Given the description of an element on the screen output the (x, y) to click on. 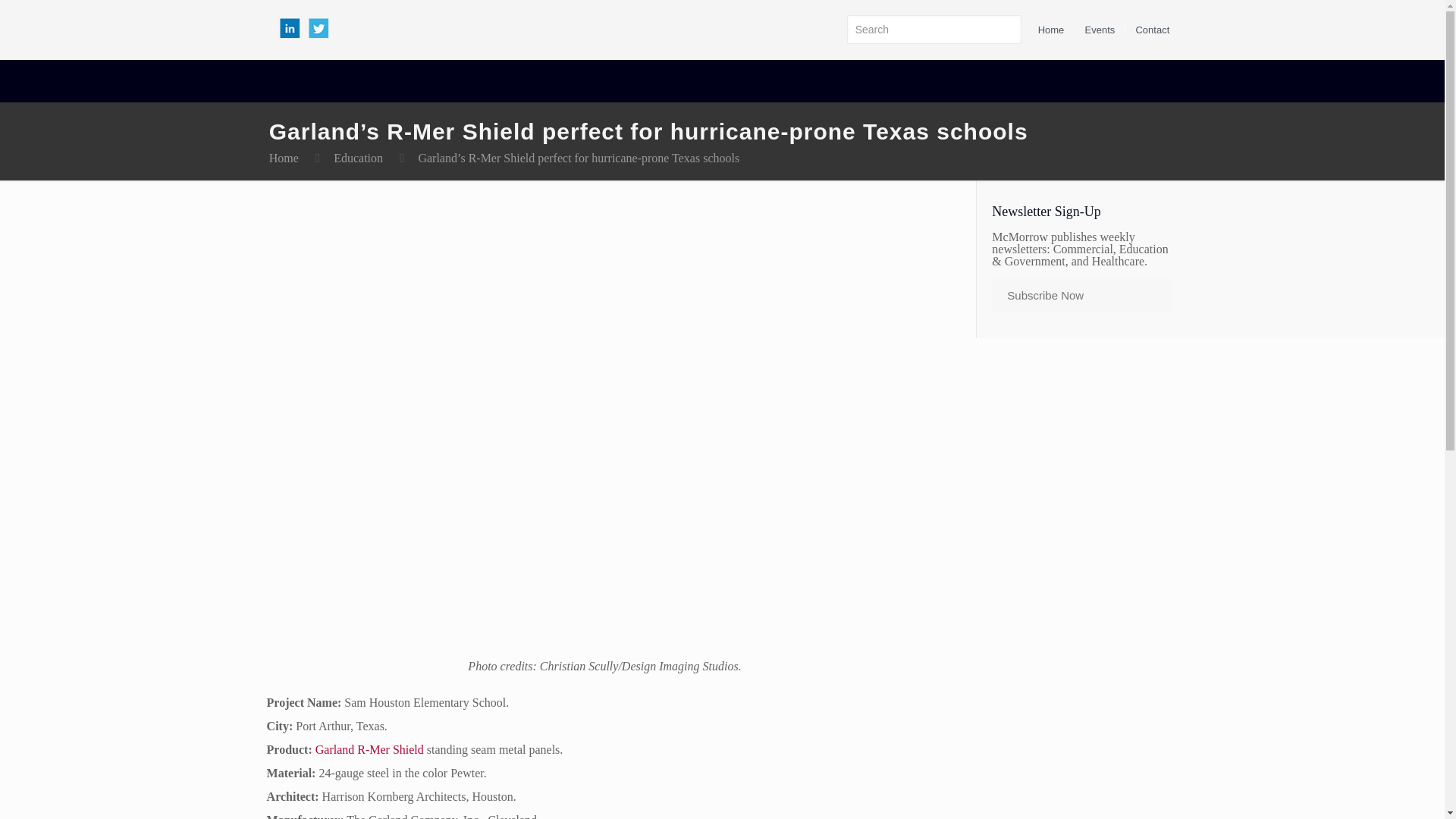
Home (283, 157)
Events (1099, 30)
Garland R-Mer Shield (369, 748)
Education (357, 157)
Subscribe Now (1081, 295)
Home (1051, 30)
LinkedIn (290, 36)
Twitter (313, 36)
Contact (1152, 30)
